Given the description of an element on the screen output the (x, y) to click on. 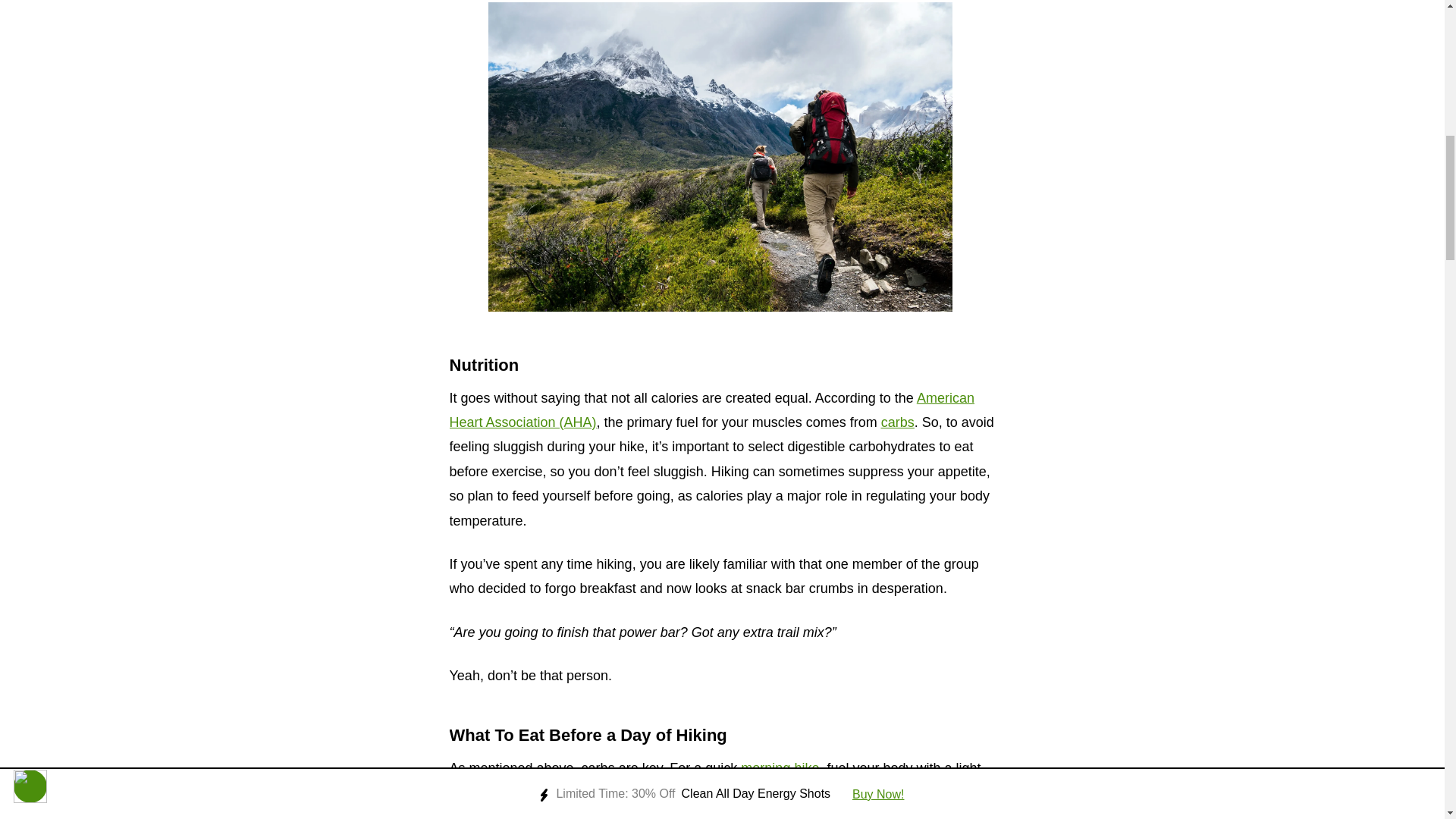
Carbohydrates give you energy (711, 409)
Carbohydrates (897, 421)
carbs (897, 421)
Morning hike food (779, 767)
morning hike (779, 767)
